Given the description of an element on the screen output the (x, y) to click on. 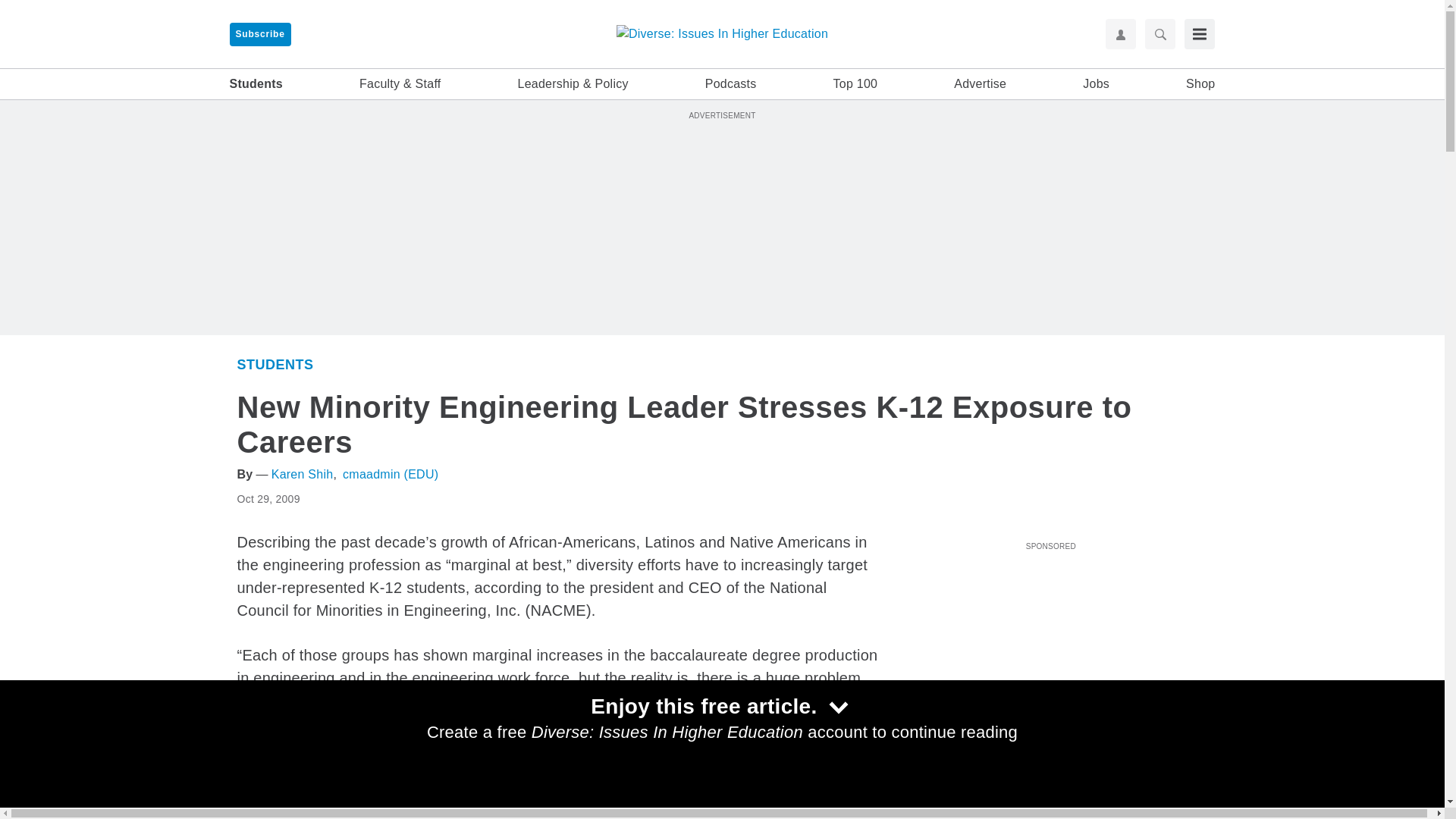
Subscribe (258, 33)
Advertise (979, 84)
Jobs (1096, 84)
Youtube Player (1050, 641)
Shop (1200, 84)
Subscribe (258, 33)
Top 100 (854, 84)
Students (274, 364)
Students (923, 811)
Podcasts (730, 84)
